Given the description of an element on the screen output the (x, y) to click on. 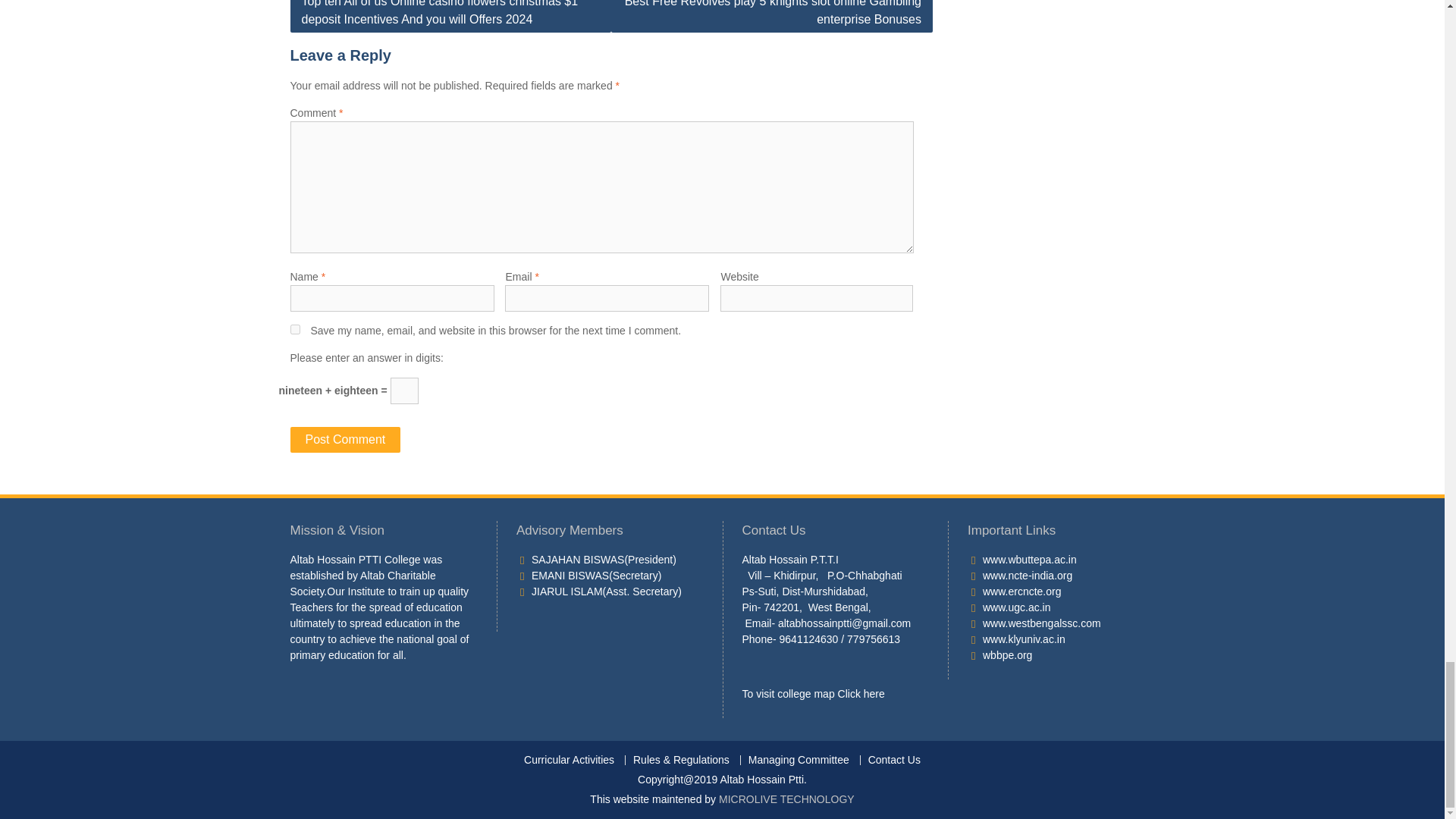
Post Comment (344, 439)
yes (294, 329)
